Given the description of an element on the screen output the (x, y) to click on. 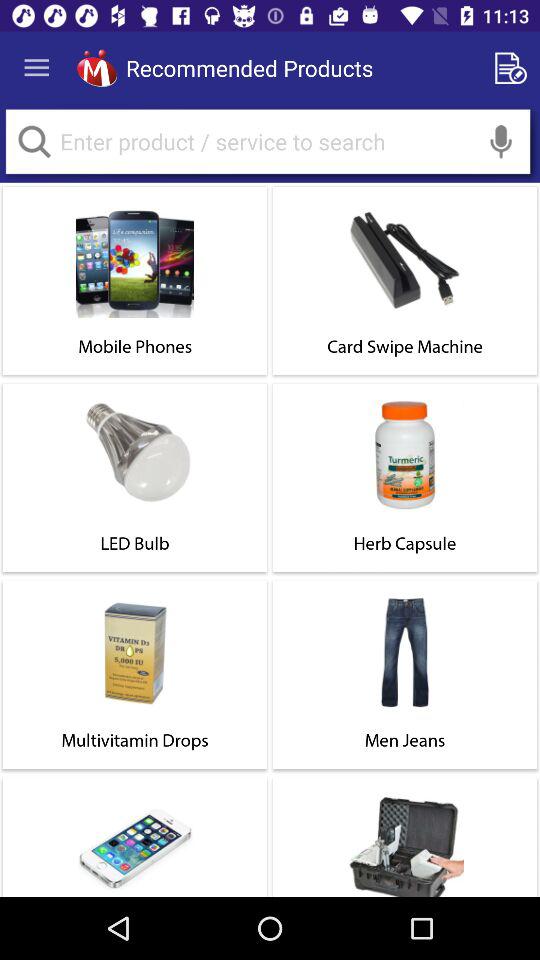
search (34, 141)
